Given the description of an element on the screen output the (x, y) to click on. 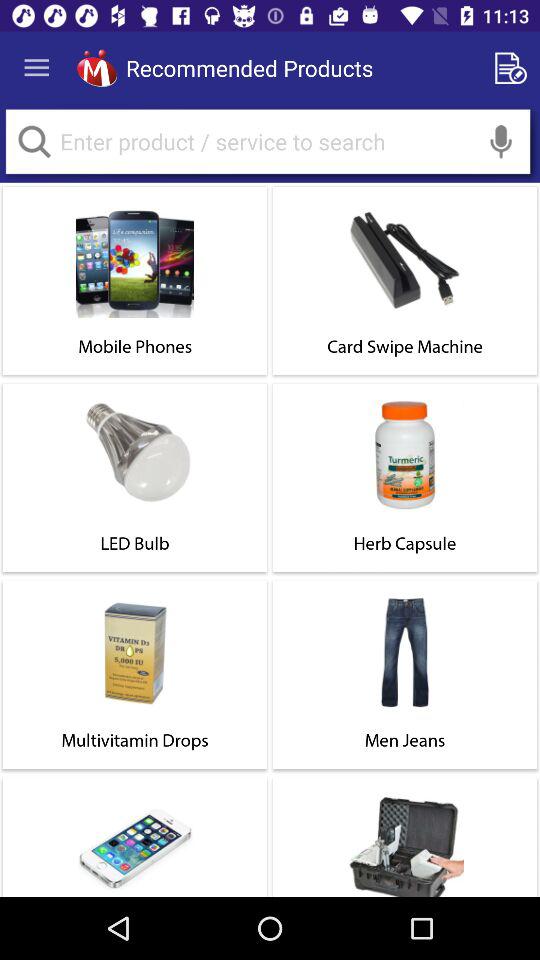
search (34, 141)
